Given the description of an element on the screen output the (x, y) to click on. 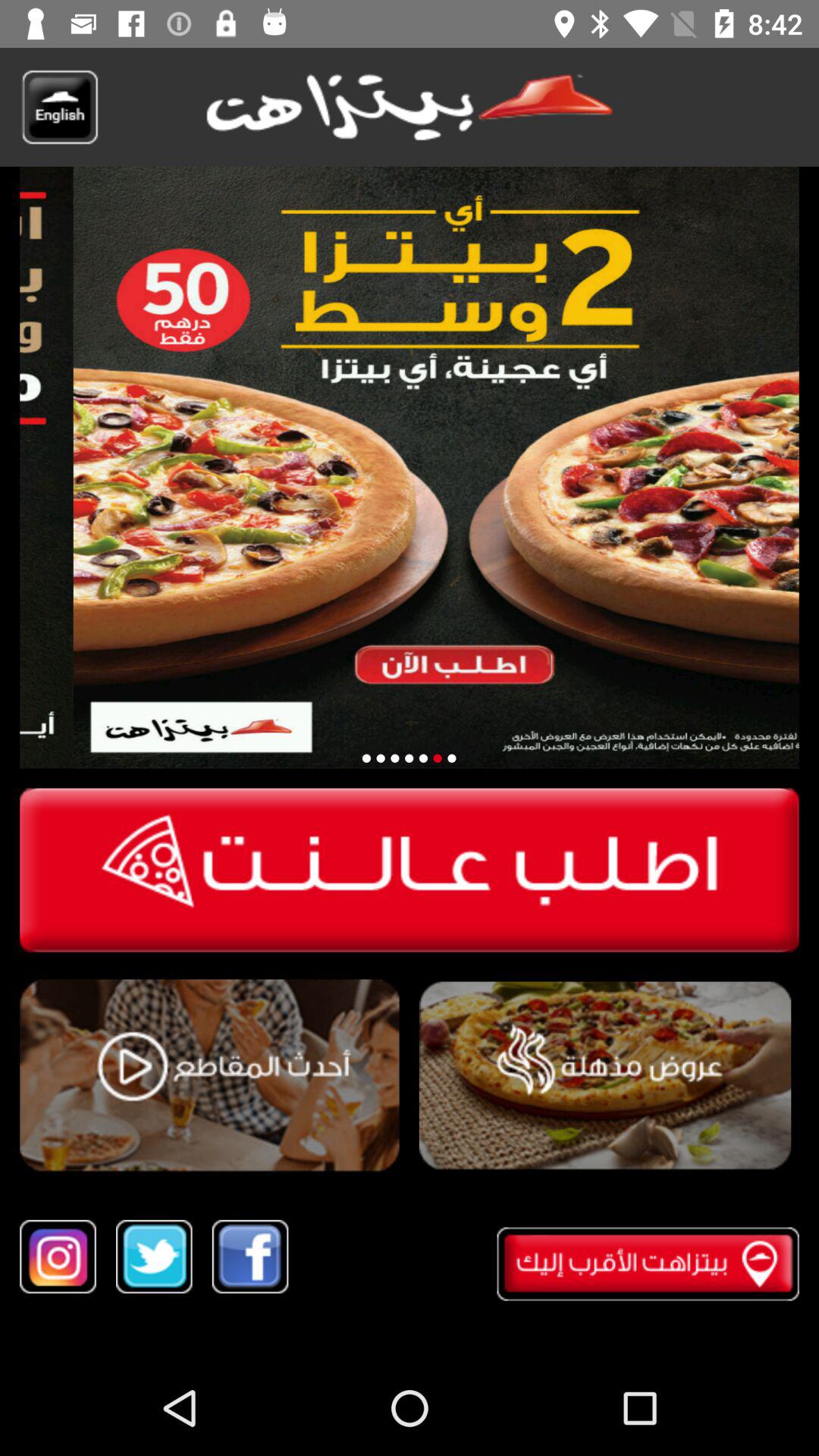
go to the 5th special (437, 758)
